Given the description of an element on the screen output the (x, y) to click on. 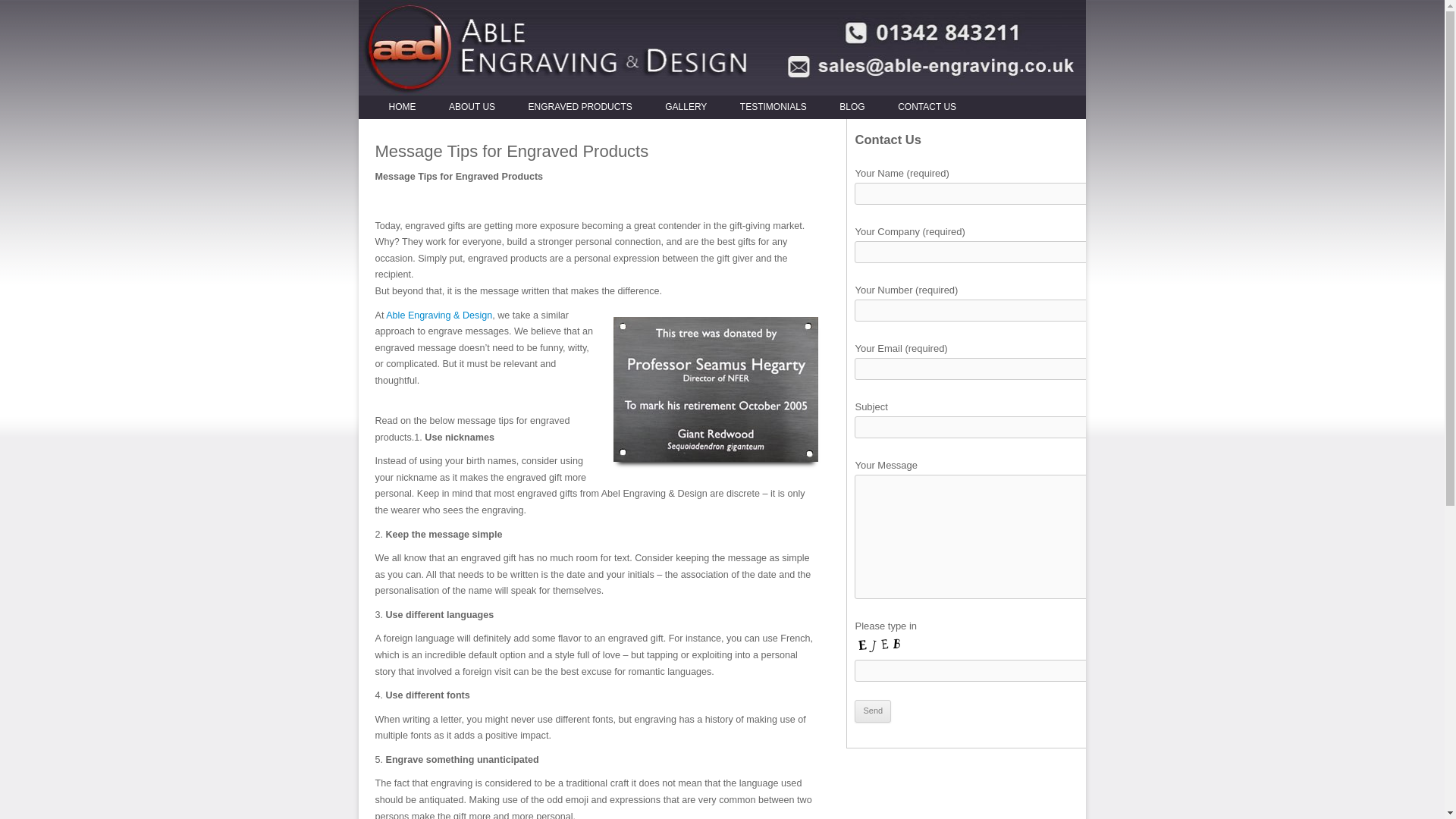
GALLERY (685, 107)
ENGRAVED PRODUCTS (579, 107)
ABOUT US (471, 107)
Skip to content (753, 99)
TESTIMONIALS (772, 107)
HOME (401, 107)
Skip to content (753, 99)
CONTACT US (927, 107)
Send (872, 711)
BLOG (852, 107)
